Given the description of an element on the screen output the (x, y) to click on. 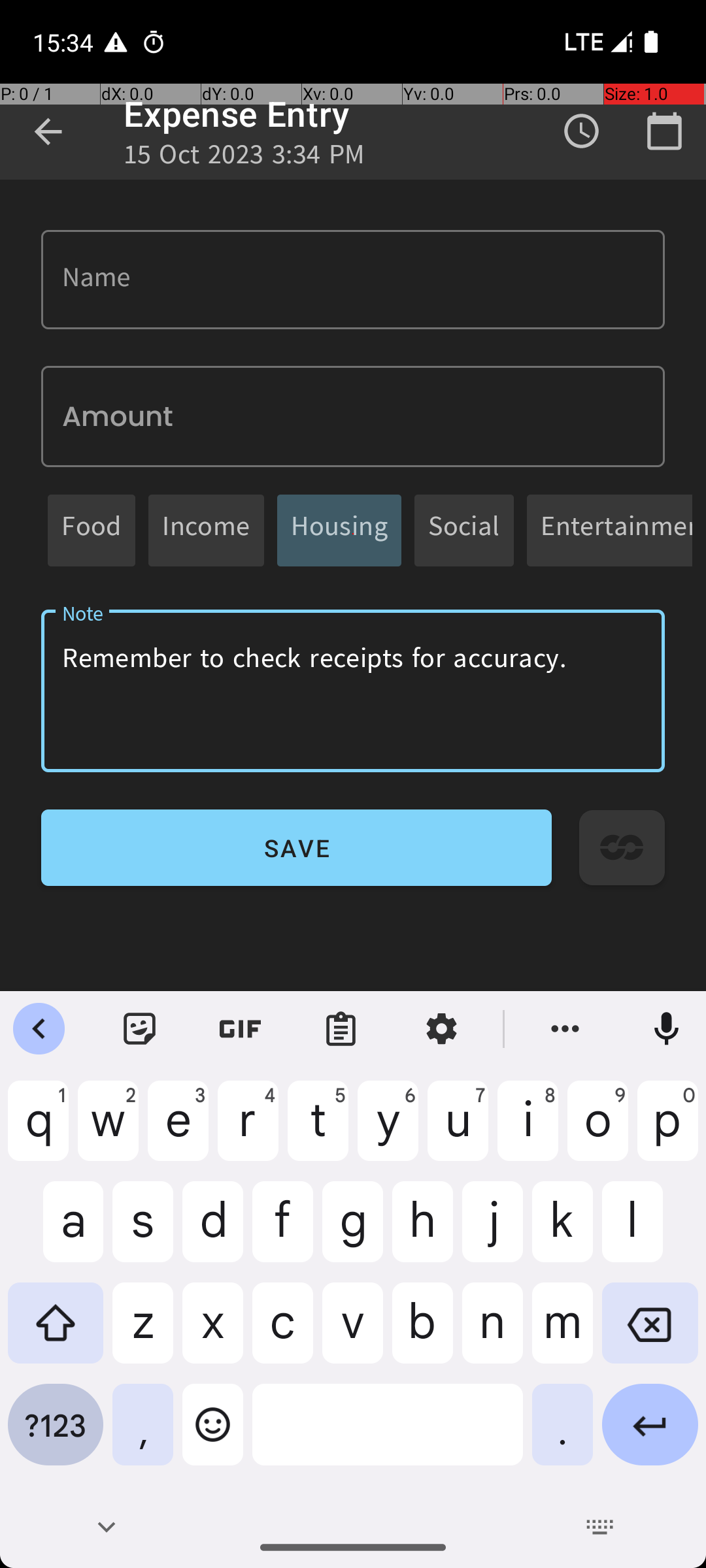
Remember to check receipts for accuracy.
 Element type: android.widget.EditText (352, 690)
Close features menu Element type: android.widget.FrameLayout (39, 1028)
Sticker Keyboard Element type: android.widget.FrameLayout (139, 1028)
GIF Keyboard Element type: android.widget.FrameLayout (240, 1028)
Clipboard Element type: android.widget.FrameLayout (340, 1028)
More features Element type: android.widget.FrameLayout (565, 1028)
